Given the description of an element on the screen output the (x, y) to click on. 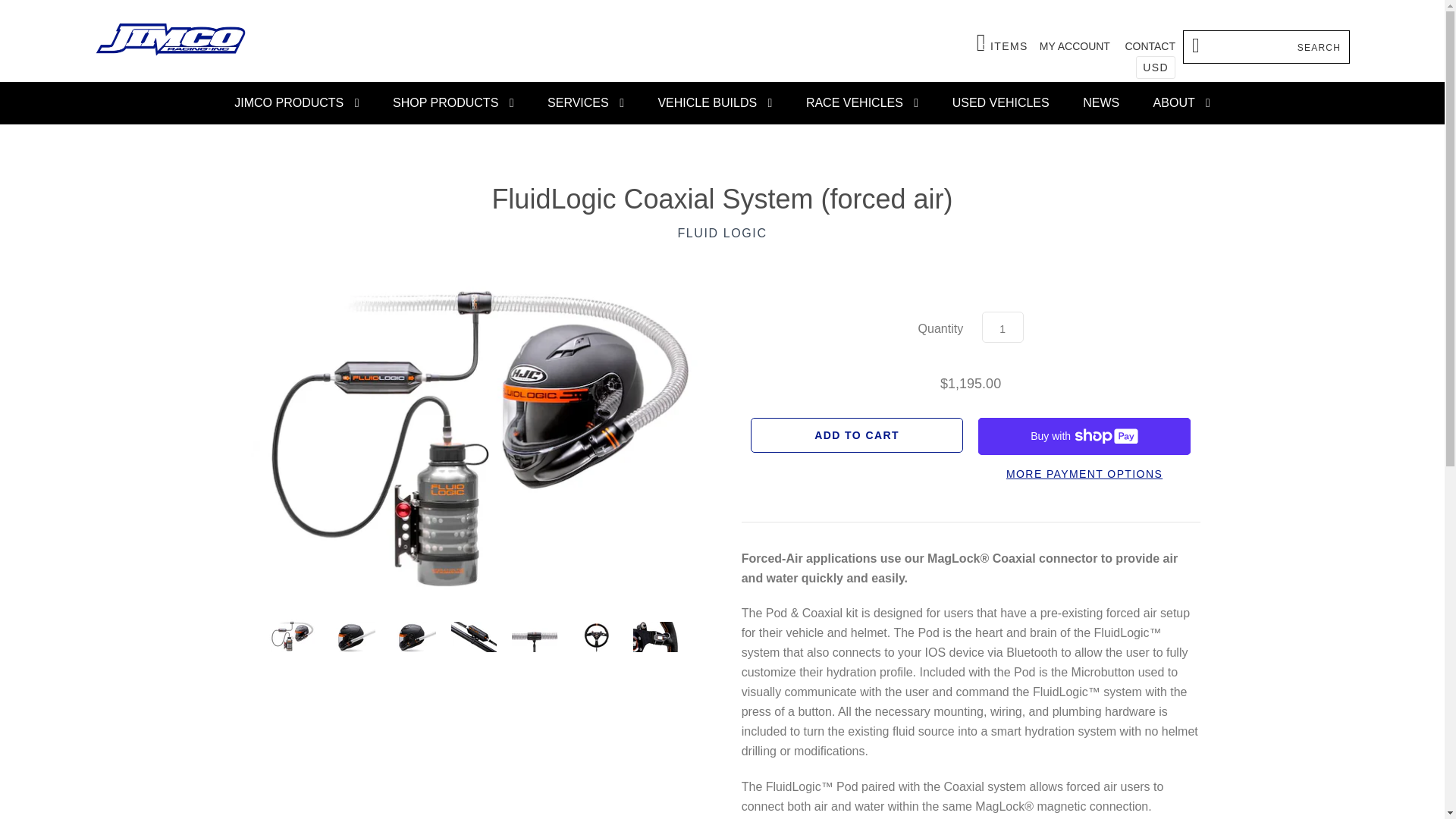
JIMCO PRODUCTS (296, 102)
CONTACT (1001, 42)
MY ACCOUNT (1149, 46)
Add to cart (1074, 46)
SHOP PRODUCTS (856, 434)
1 (453, 102)
